Given the description of an element on the screen output the (x, y) to click on. 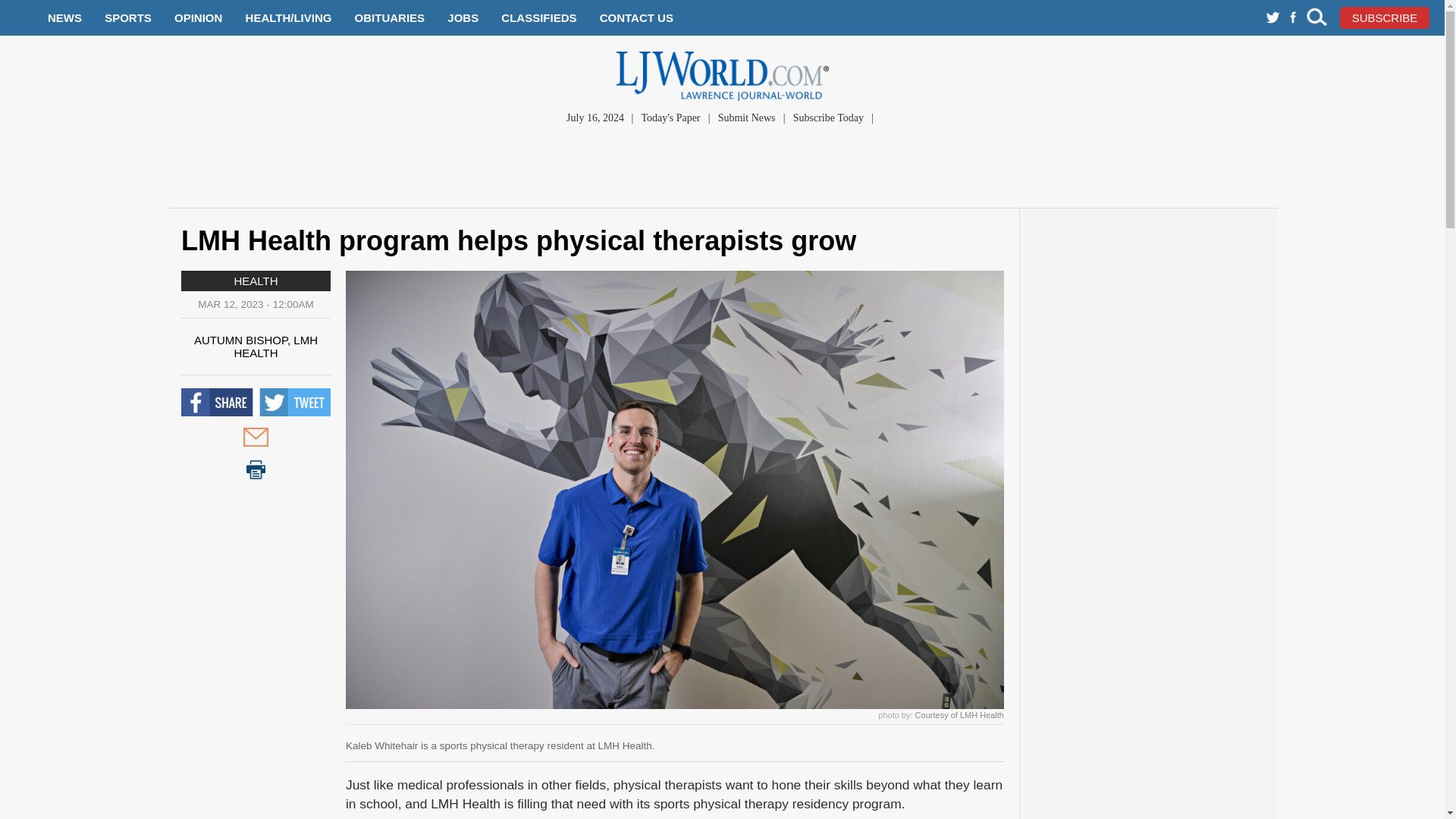
CONTACT US (635, 17)
3rd party ad content (1149, 756)
Submit News (746, 117)
View all posts in Health (255, 280)
3rd party ad content (721, 169)
NEWS (64, 17)
Subscribe Today (828, 117)
SPORTS (127, 17)
CLASSIFIEDS (538, 17)
3rd party ad content (1149, 450)
Today's Paper (670, 117)
HEALTH (255, 280)
OPINION (198, 17)
JOBS (462, 17)
OBITUARIES (390, 17)
